Given the description of an element on the screen output the (x, y) to click on. 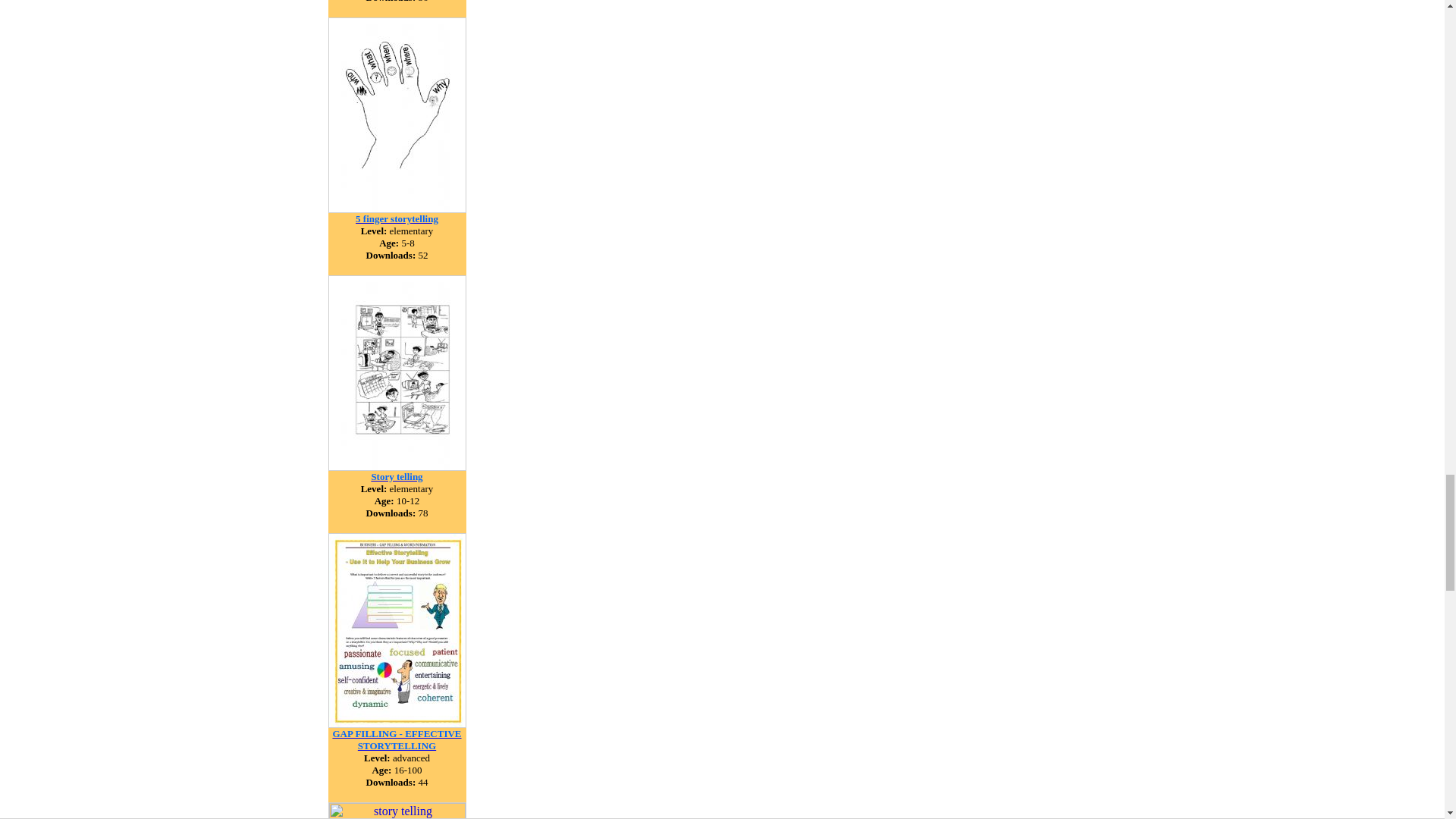
Story telling (396, 475)
5 finger storytelling (396, 217)
GAP FILLING - EFFECTIVE STORYTELLING (396, 738)
